Given the description of an element on the screen output the (x, y) to click on. 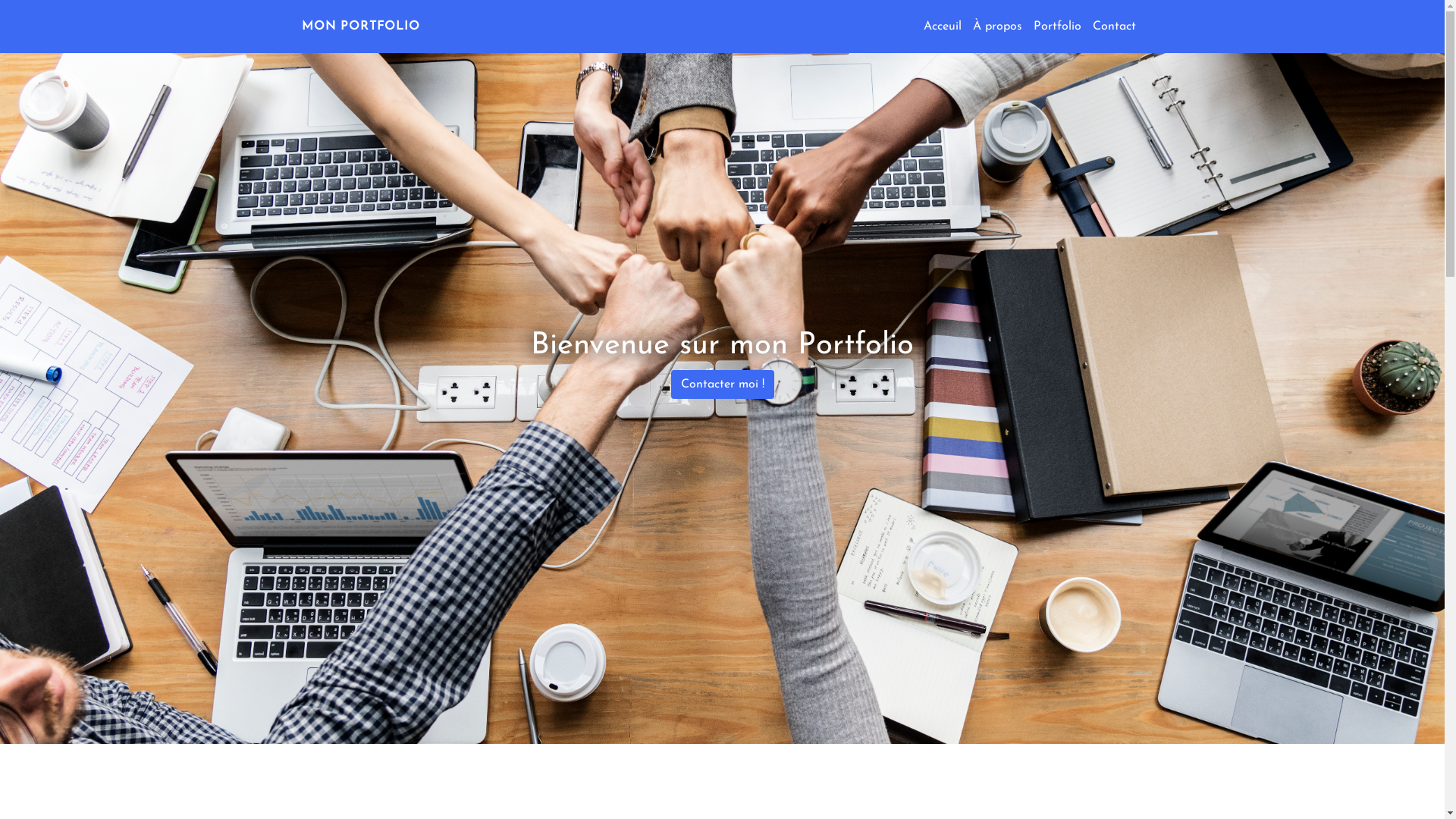
Contacter moi ! Element type: text (721, 384)
Acceuil Element type: text (944, 26)
Portfolio Element type: text (1058, 26)
MON PORTFOLIO Element type: text (360, 26)
Contact Element type: text (1113, 26)
